Given the description of an element on the screen output the (x, y) to click on. 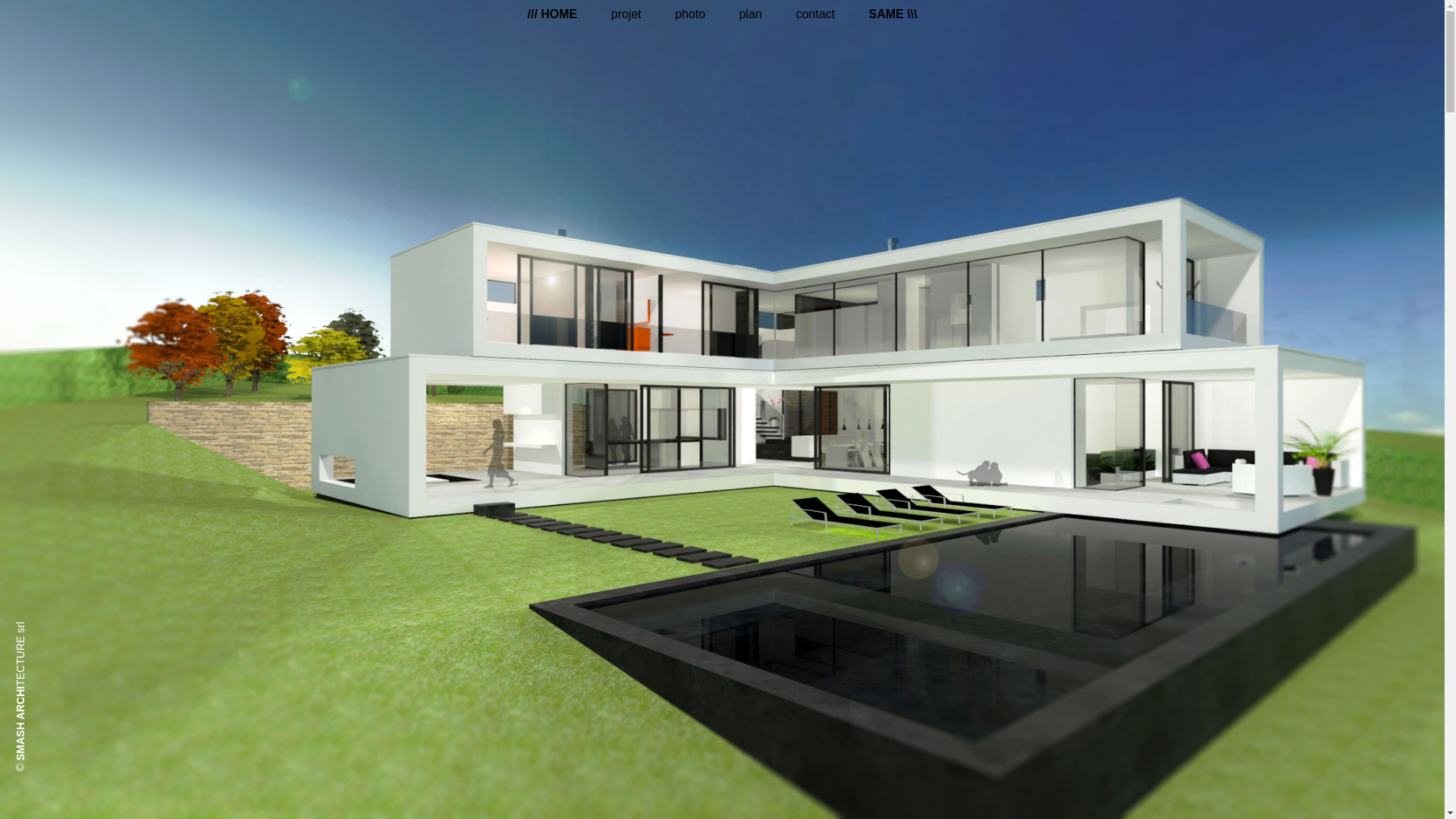
contact Element type: text (815, 14)
photo Element type: text (689, 14)
plan Element type: text (750, 14)
projet Element type: text (626, 14)
/// HOME Element type: text (552, 14)
SAME \\\ Element type: text (892, 14)
